Given the description of an element on the screen output the (x, y) to click on. 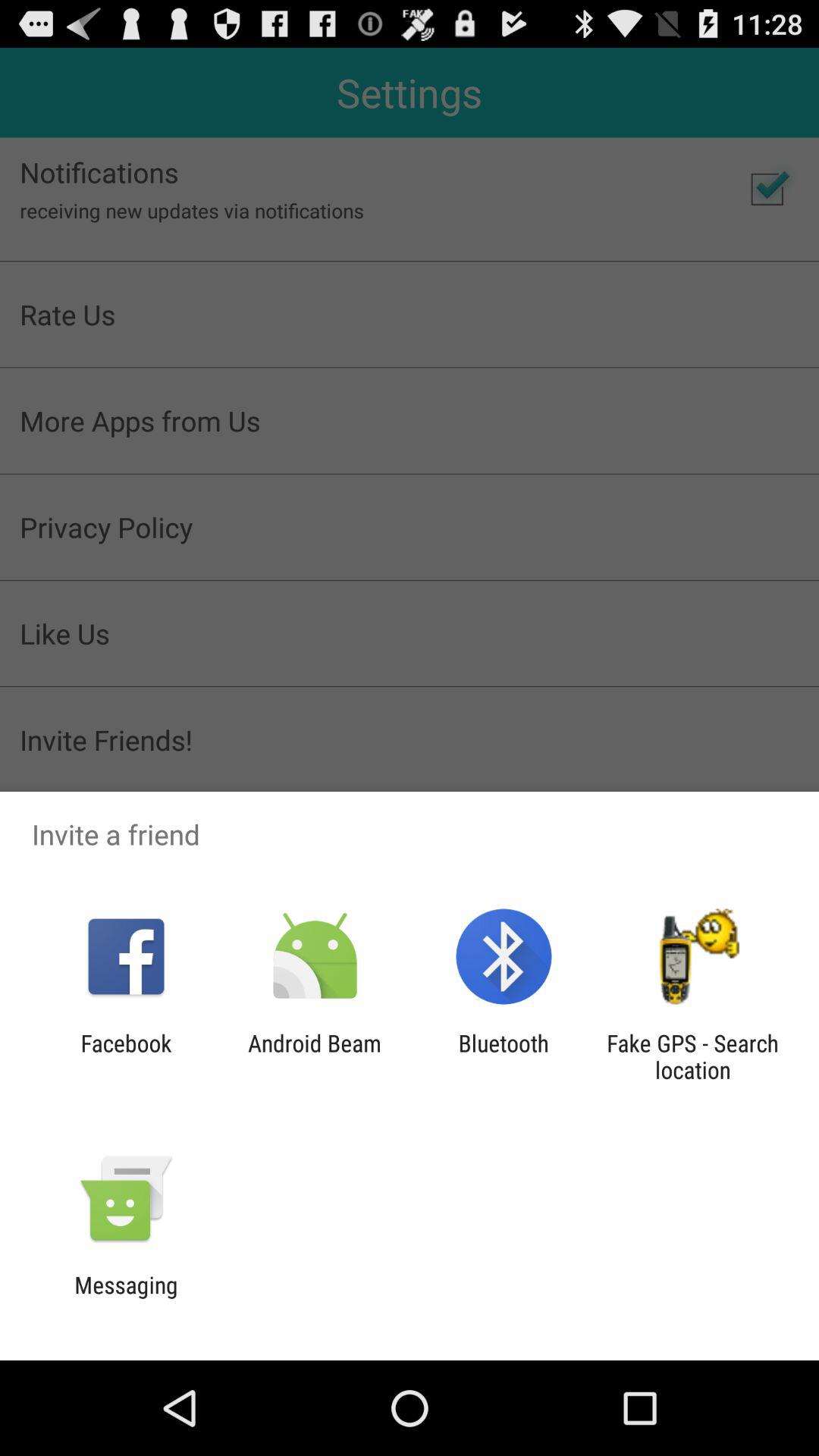
open the android beam app (314, 1056)
